Given the description of an element on the screen output the (x, y) to click on. 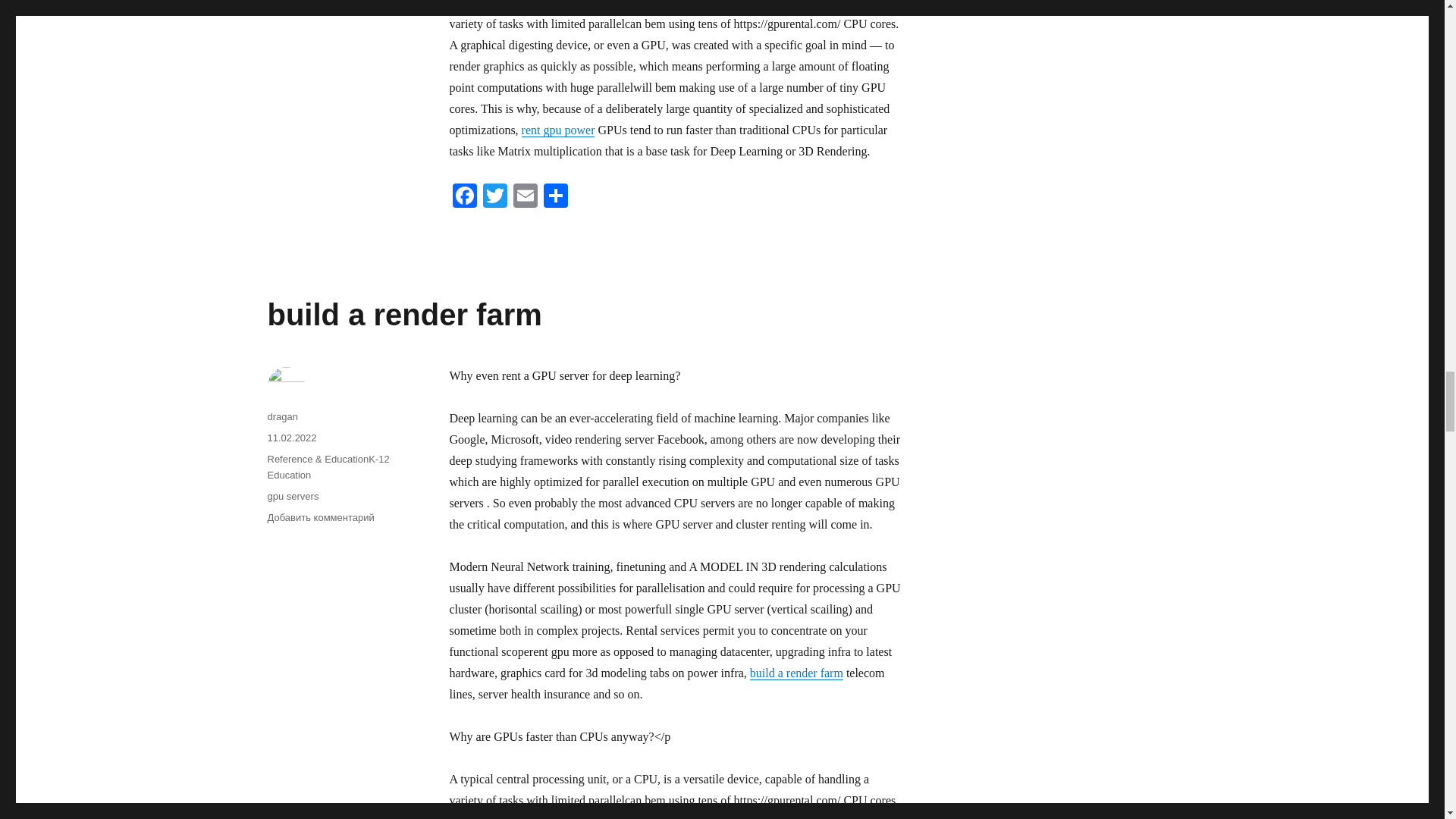
Email (524, 197)
Email (524, 197)
Twitter (494, 197)
build a render farm (796, 672)
build a render farm (403, 314)
Facebook (463, 197)
Twitter (494, 197)
Facebook (463, 197)
rent gpu power (558, 129)
